Given the description of an element on the screen output the (x, y) to click on. 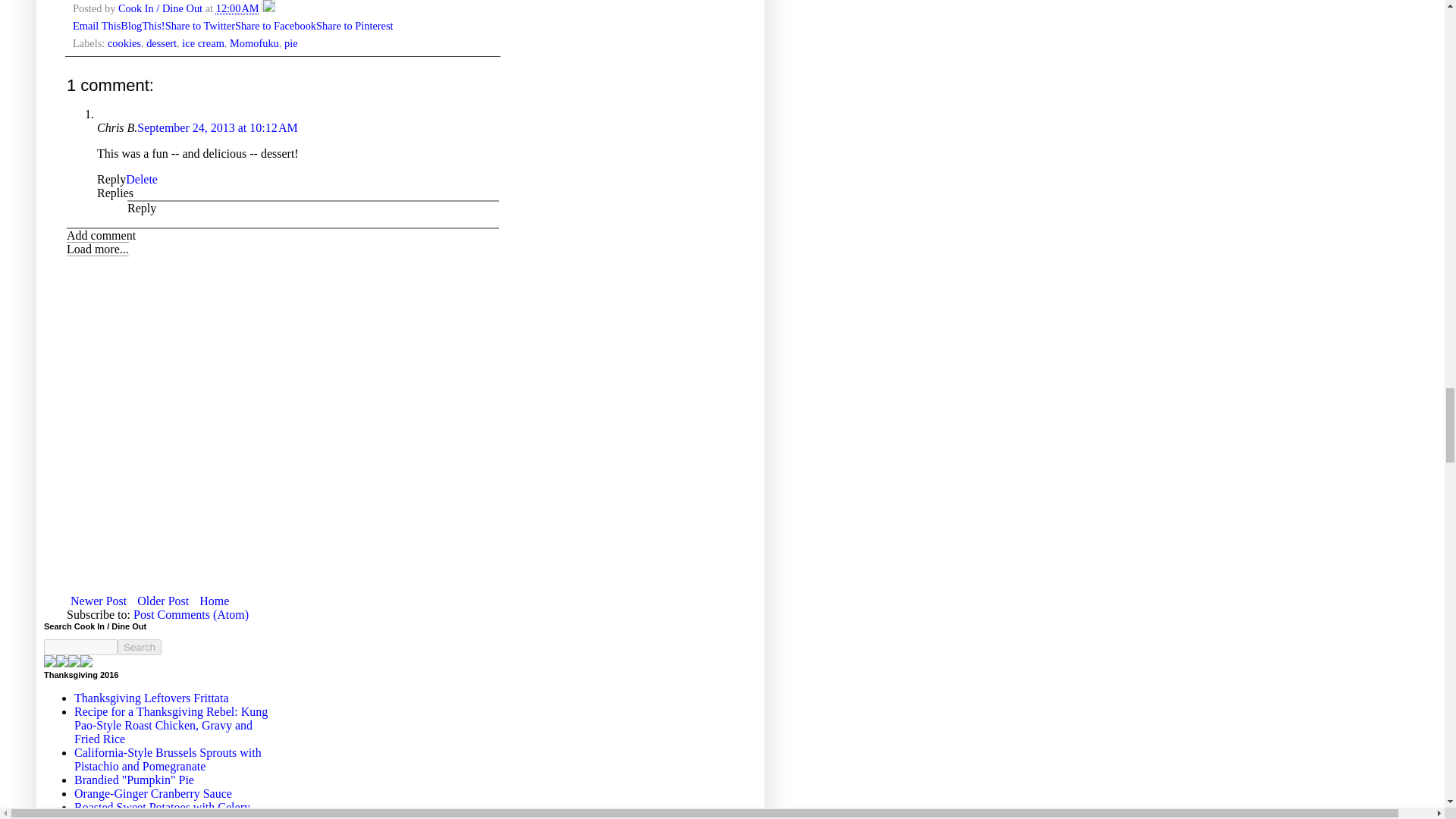
Share to Facebook (274, 25)
cookies (124, 42)
Search (139, 647)
search (139, 647)
author profile (161, 8)
Search (139, 647)
dessert (161, 42)
BlogThis! (142, 25)
Share to Pinterest (354, 25)
Older Post (162, 600)
Edit Post (268, 8)
permanent link (237, 8)
ice cream (203, 42)
